Given the description of an element on the screen output the (x, y) to click on. 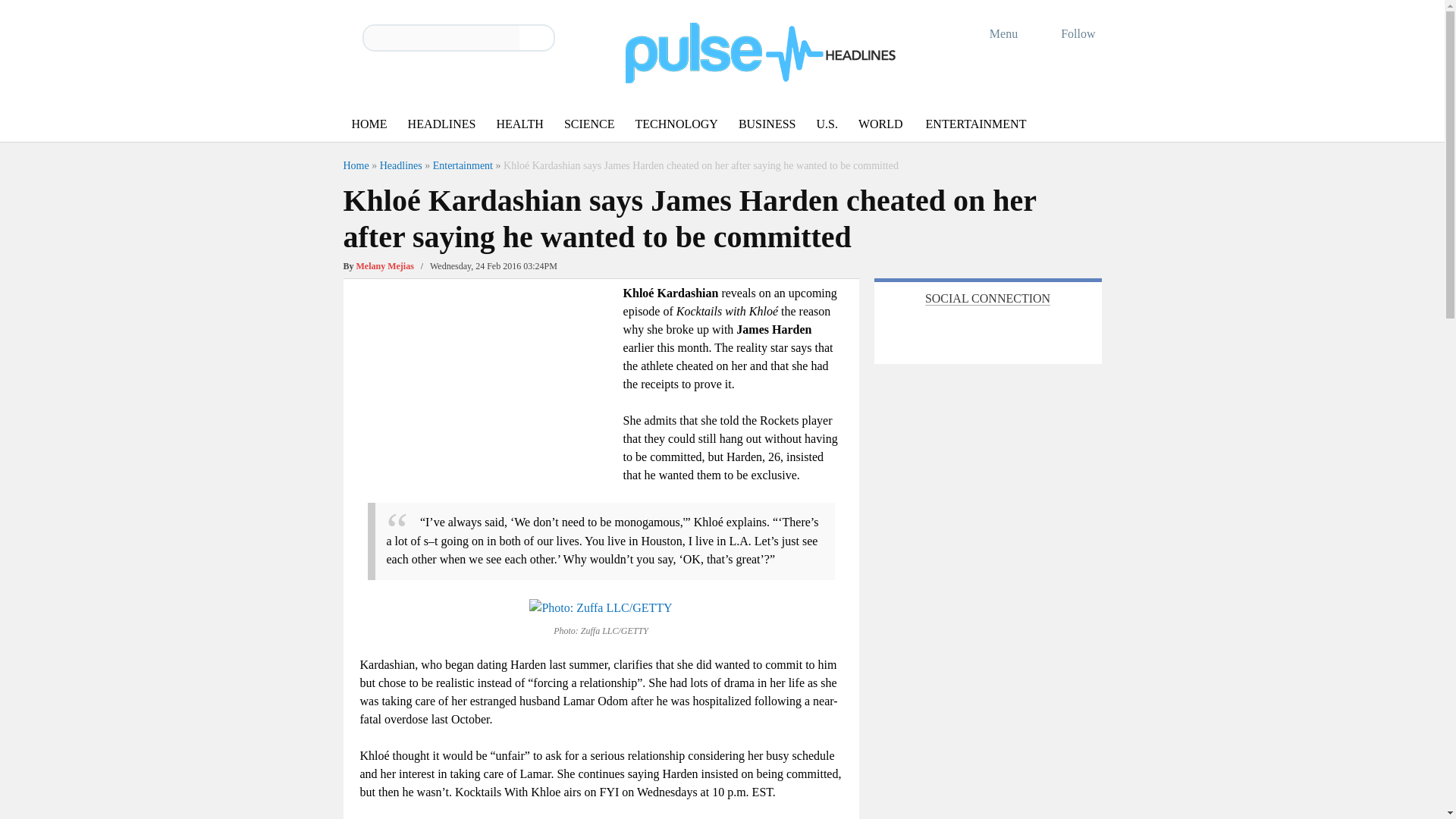
RSS (1002, 331)
WORLD (880, 123)
HEALTH (519, 123)
Entertainment (462, 165)
Home (355, 165)
HOME (368, 123)
Facebook (935, 331)
TECHNOLOGY (676, 123)
HEADLINES (441, 123)
Menu (993, 33)
